Given the description of an element on the screen output the (x, y) to click on. 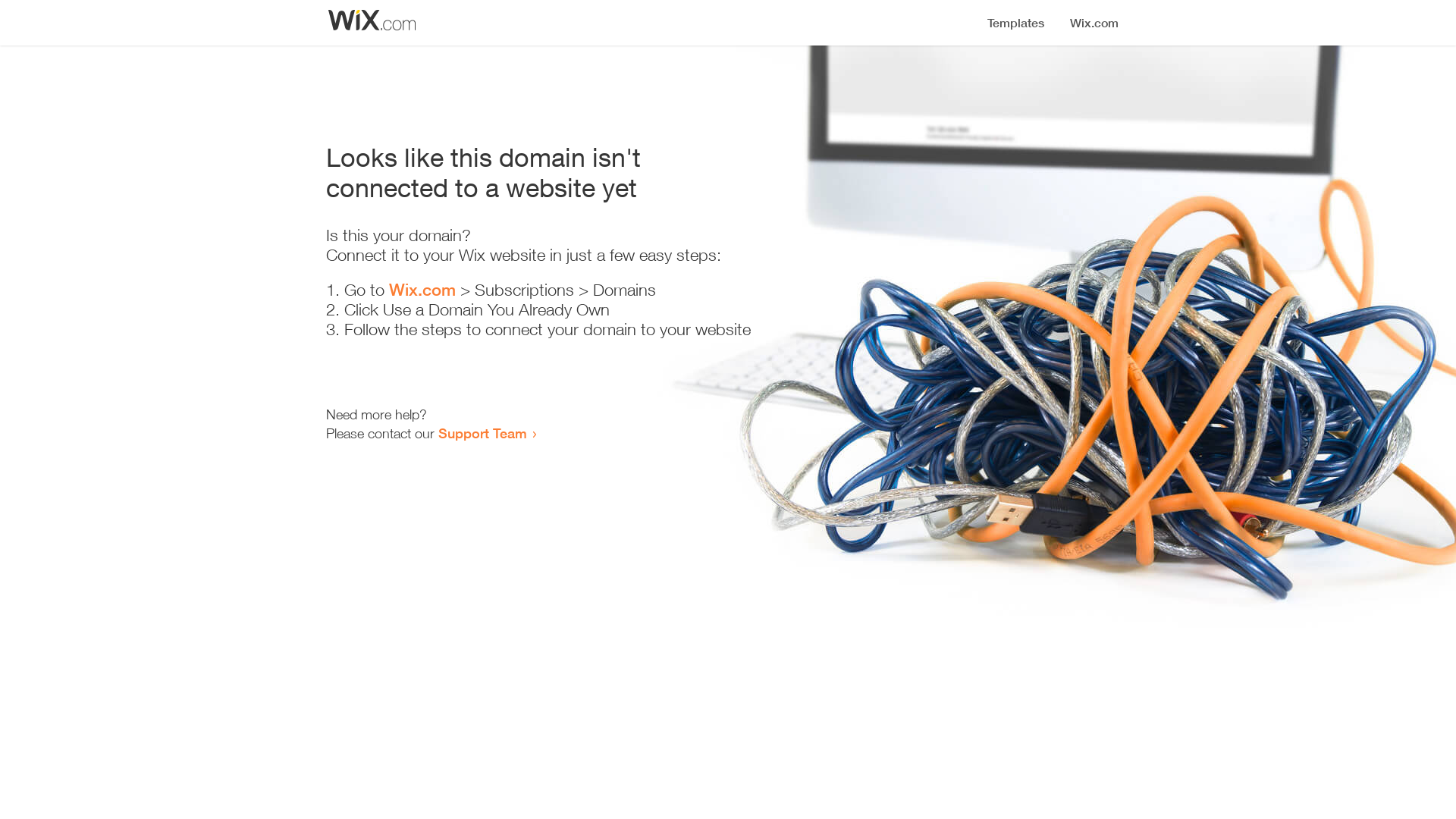
Support Team Element type: text (482, 432)
Wix.com Element type: text (422, 289)
